Given the description of an element on the screen output the (x, y) to click on. 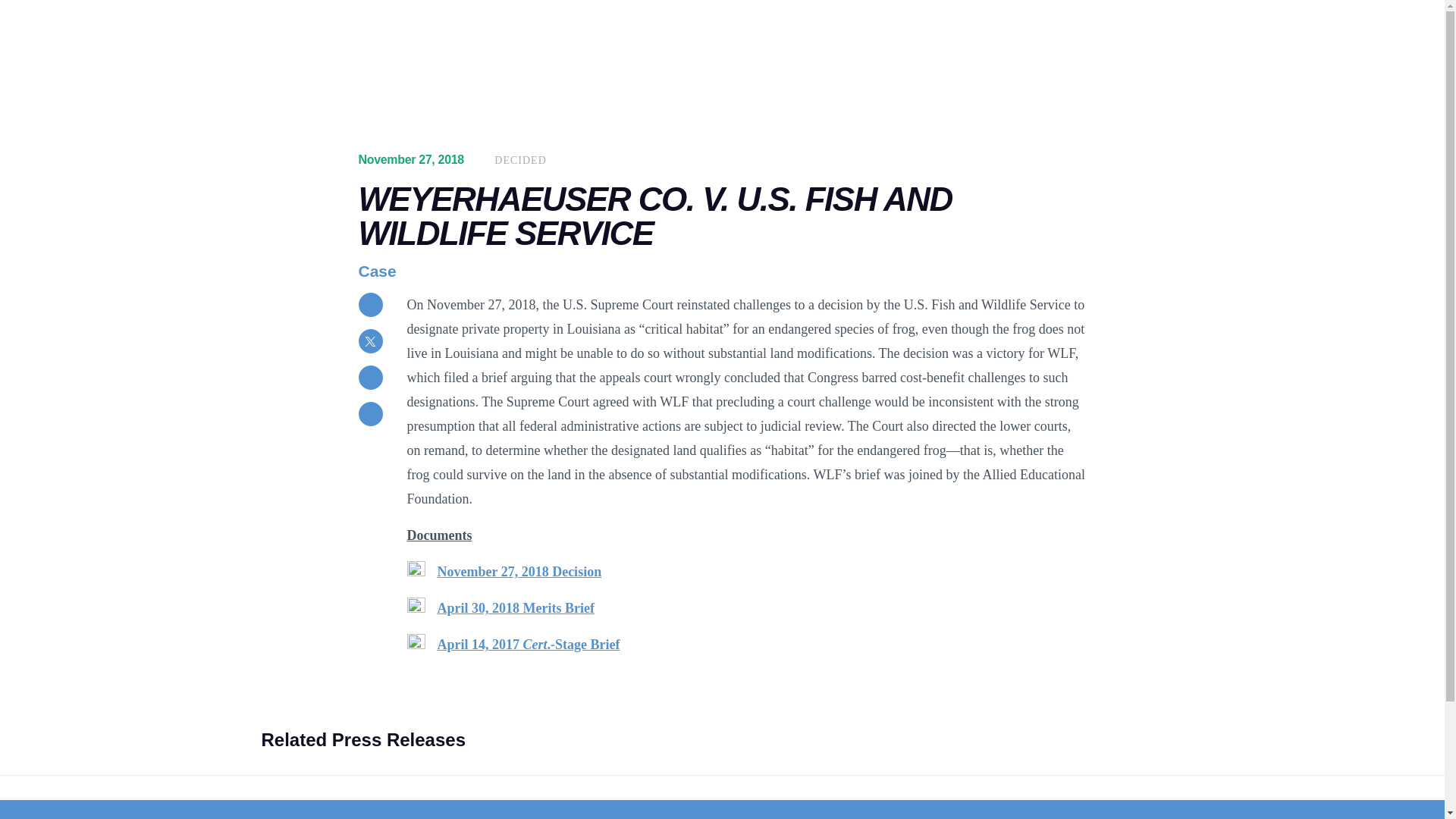
November 27, 2018 Decision (518, 571)
April 30, 2018 Merits Brief (515, 607)
April 14, 2017 Cert.-Stage Brief (528, 644)
